Given the description of an element on the screen output the (x, y) to click on. 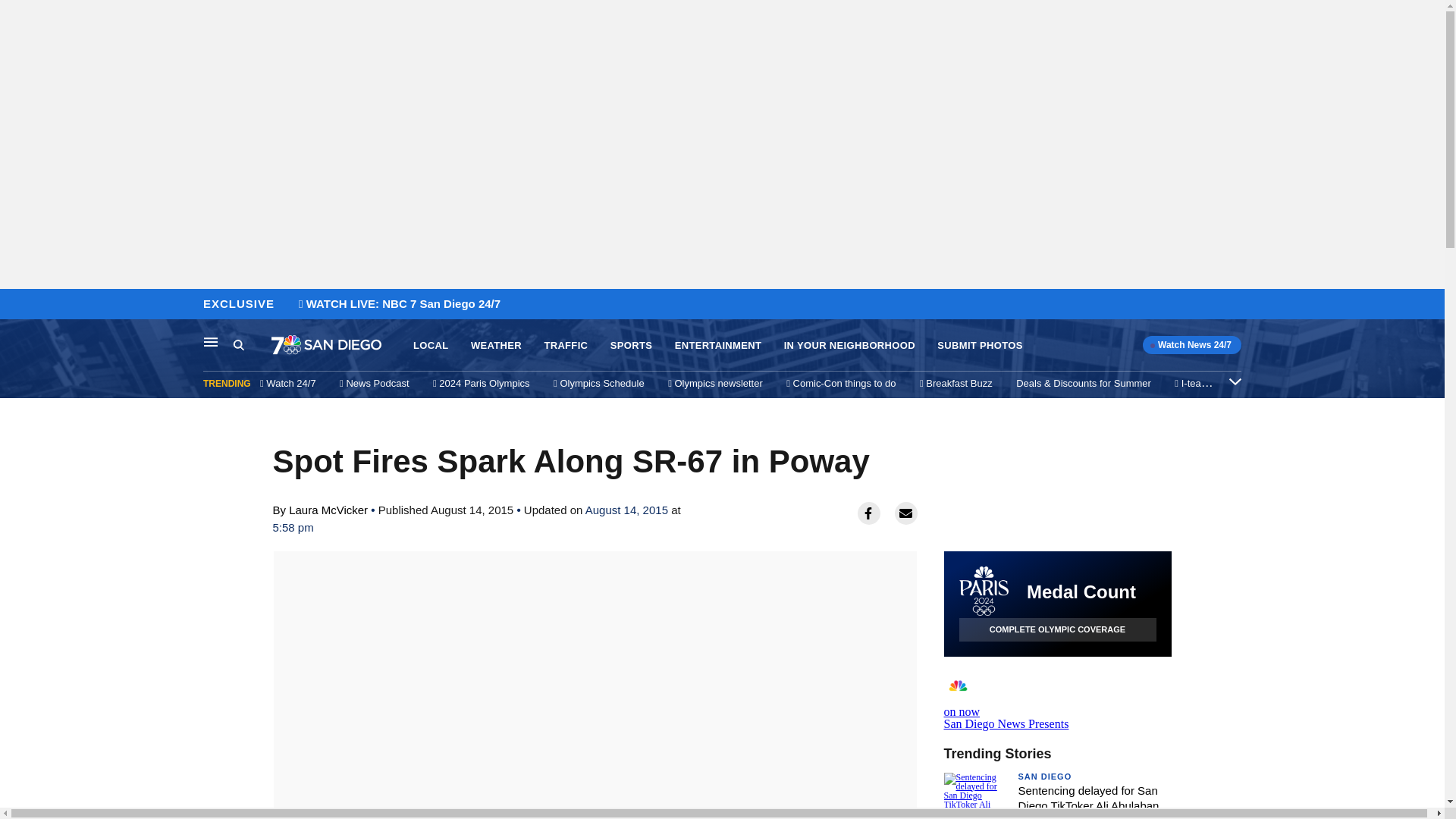
IN YOUR NEIGHBORHOOD (849, 345)
LOCAL (1056, 699)
SPORTS (430, 345)
COMPLETE OLYMPIC COVERAGE (631, 345)
Search (1057, 629)
SAN DIEGO (238, 344)
TRAFFIC (1044, 776)
Skip to content (565, 345)
Search (16, 304)
SUBMIT PHOTOS (252, 345)
Main Navigation (979, 345)
ENTERTAINMENT (210, 341)
Expand (718, 345)
WEATHER (1234, 381)
